Given the description of an element on the screen output the (x, y) to click on. 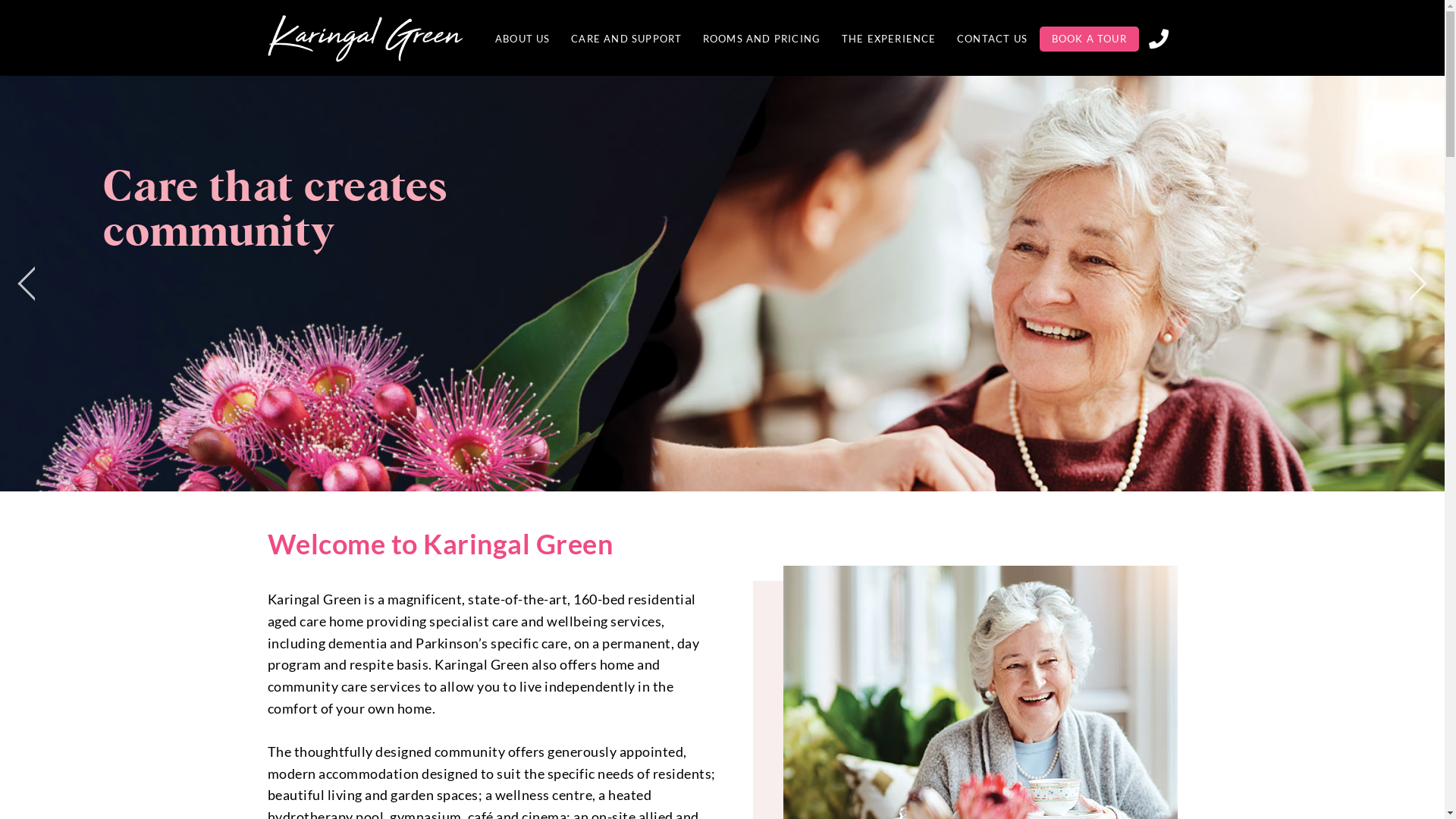
BOOK A TOUR Element type: text (1089, 38)
CARE AND SUPPORT Element type: text (625, 38)
ABOUT US Element type: text (522, 38)
THE EXPERIENCE Element type: text (888, 38)
ROOMS AND PRICING Element type: text (761, 38)
CONTACT US Element type: text (991, 38)
